Given the description of an element on the screen output the (x, y) to click on. 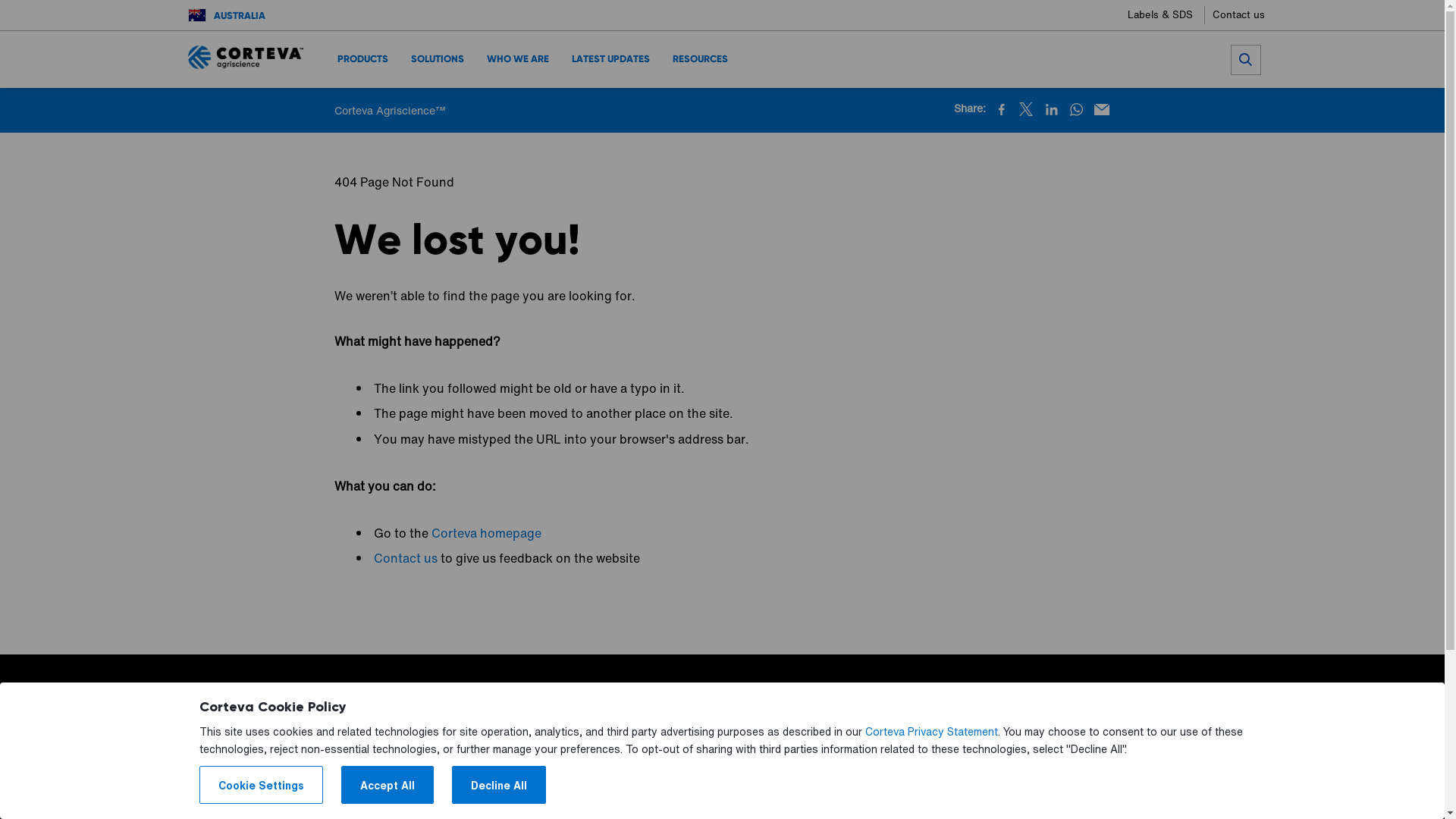
Corteva Privacy Statement Element type: text (930, 731)
RESOURCES Element type: text (700, 58)
Facebook Element type: hover (1000, 109)
LinkedIn Element type: hover (1050, 109)
WHO WE ARE Element type: text (517, 58)
LATEST UPDATES Element type: text (610, 58)
Twitter Element type: hover (1025, 109)
Cookie Settings Element type: text (260, 784)
Online Learning Element type: text (832, 766)
E-Mail Element type: hover (1101, 109)
Contact Us Element type: text (635, 766)
Corteva homepage Element type: text (486, 533)
SOLUTIONS Element type: text (437, 58)
PRODUCTS Element type: text (362, 58)
Sitemap Element type: text (988, 766)
Careers Element type: text (919, 766)
AUSTRALIA Element type: text (239, 15)
Contact us Element type: text (405, 558)
WhatsApp Element type: hover (1075, 109)
Labels & SDS Element type: text (1165, 15)
Accept All Element type: text (387, 784)
News & Media Element type: text (728, 766)
Decline All Element type: text (498, 784)
Contact us Element type: text (1237, 15)
